Given the description of an element on the screen output the (x, y) to click on. 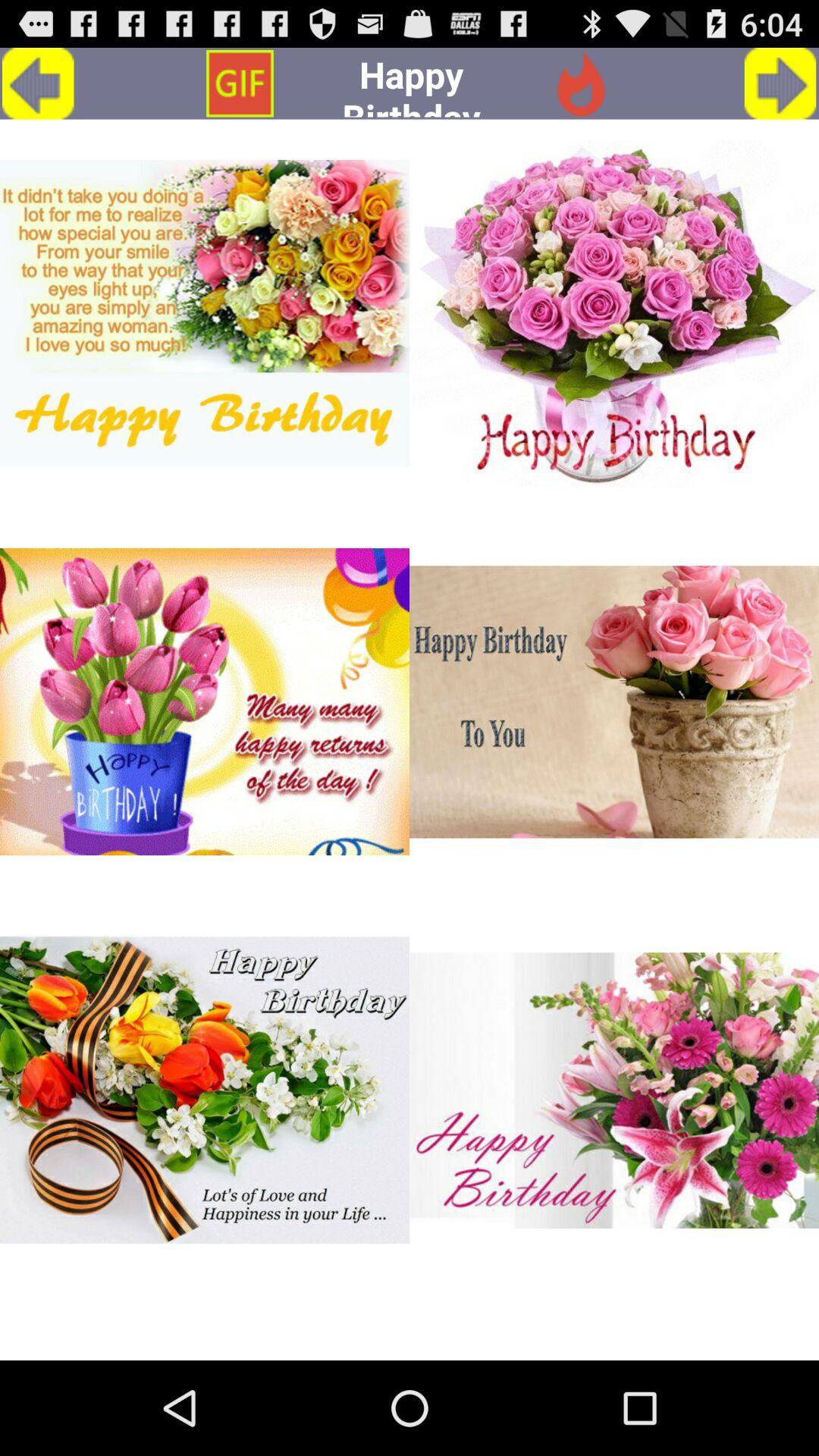
select the option which is above first image (239, 83)
click on the right arrow button at top right (780, 83)
select the symbol which is in the red color and left side of the arrow (580, 83)
select the bottom right image (614, 1090)
select the second image from top right (614, 702)
